Given the description of an element on the screen output the (x, y) to click on. 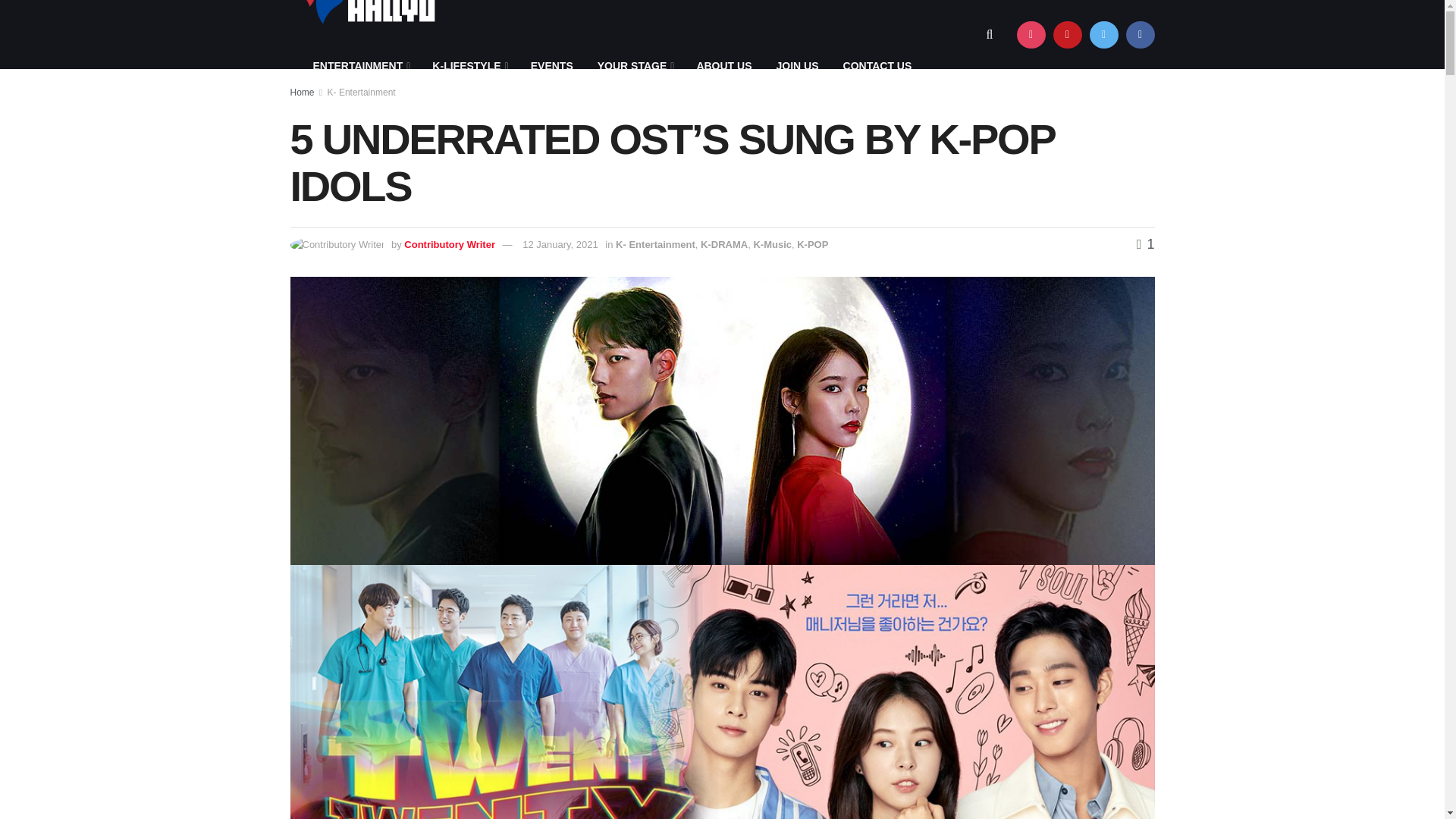
EVENTS (551, 65)
K-LIFESTYLE (469, 65)
CONTACT US (877, 65)
ENTERTAINMENT (359, 65)
YOUR STAGE (634, 65)
ABOUT US (723, 65)
JOIN US (797, 65)
